Given the description of an element on the screen output the (x, y) to click on. 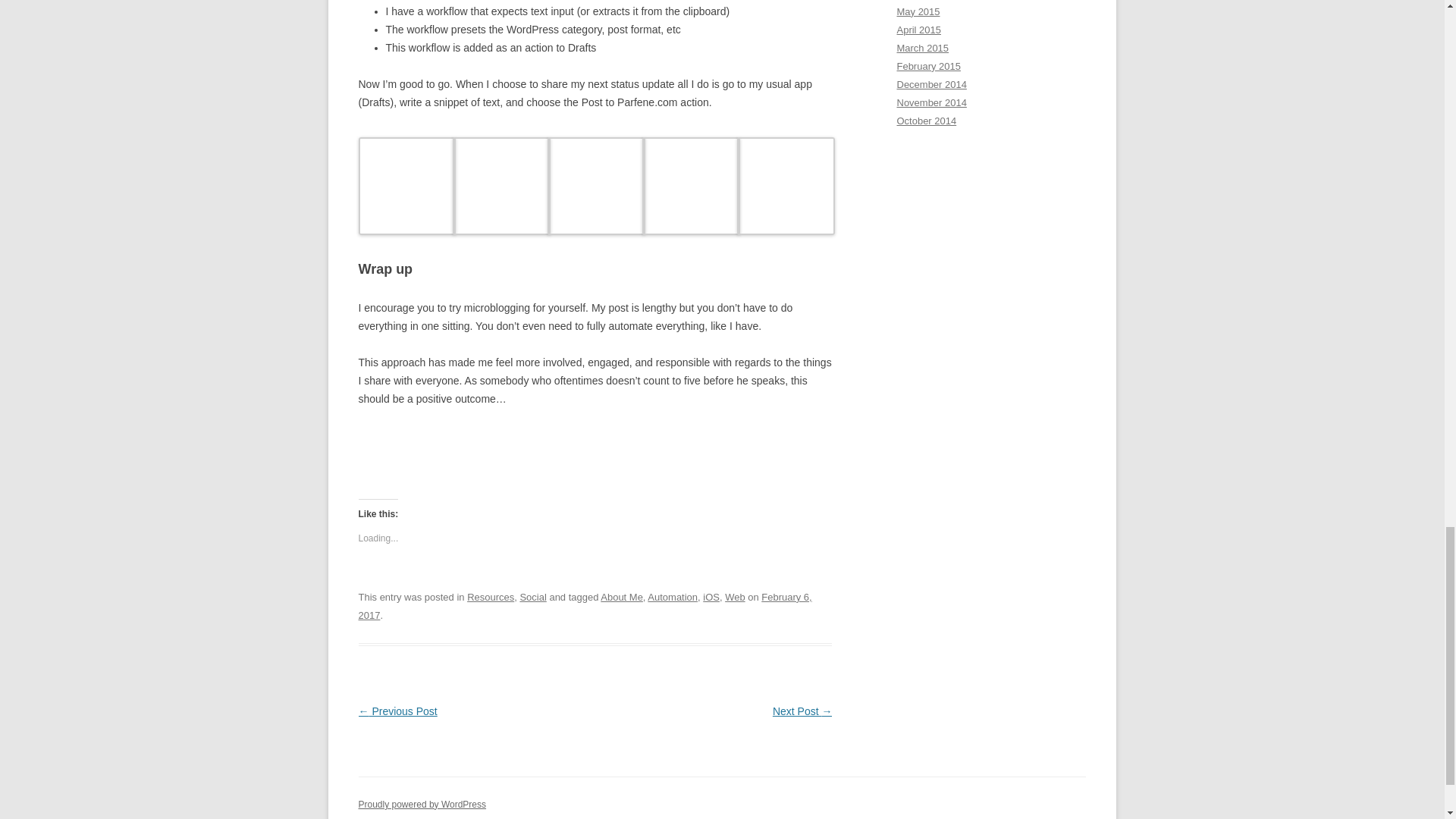
Semantic Personal Publishing Platform (422, 804)
Social (532, 596)
2:34 pm (584, 605)
Web (734, 596)
About Me (621, 596)
iOS (711, 596)
Automation (672, 596)
February 6, 2017 (584, 605)
Resources (490, 596)
